Given the description of an element on the screen output the (x, y) to click on. 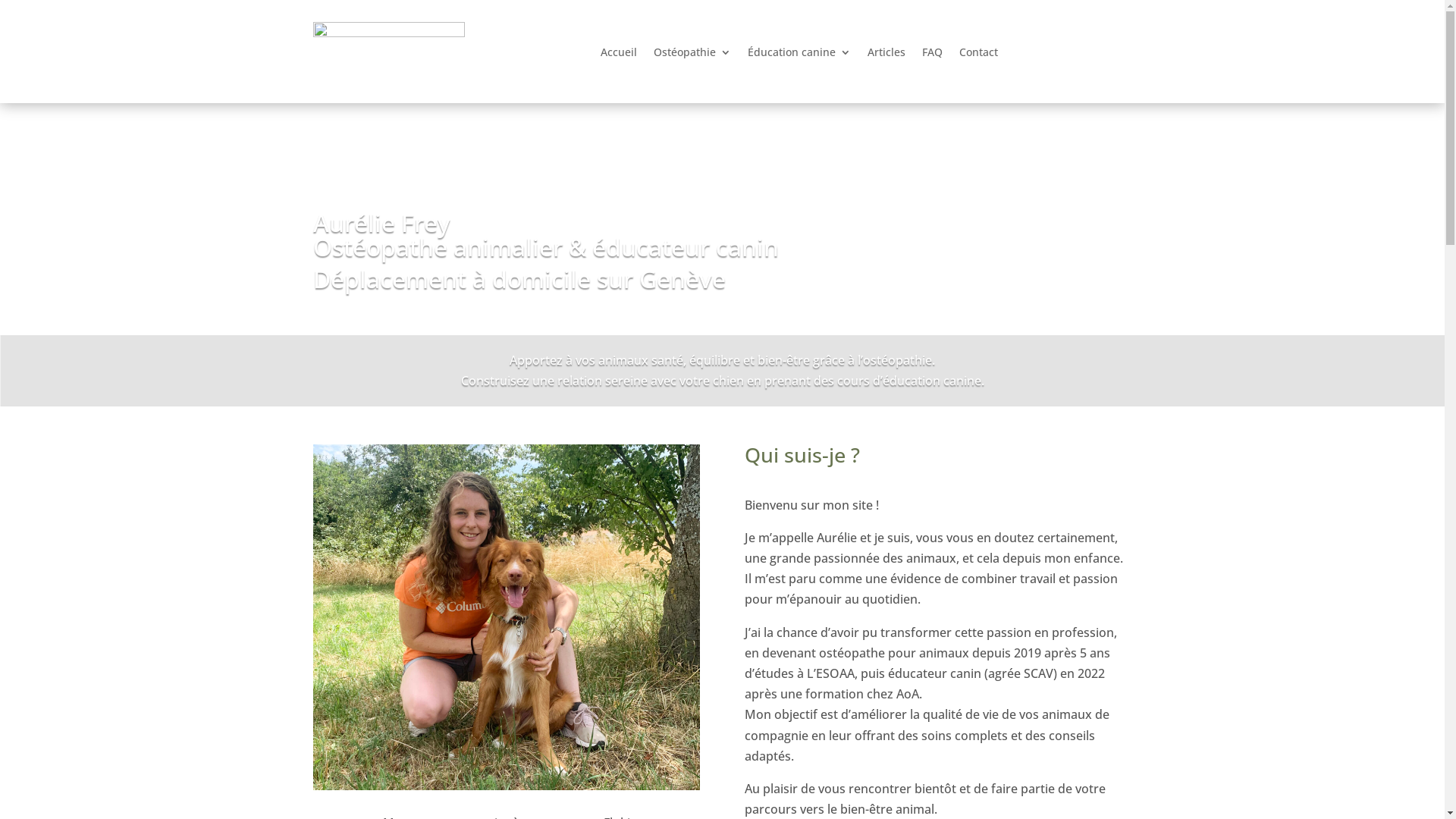
logo_header_c-min Element type: hover (388, 51)
Contact Element type: text (978, 55)
FAQ Element type: text (932, 55)
Floki et moi Element type: hover (505, 617)
Articles Element type: text (886, 55)
Accueil Element type: text (618, 55)
